Given the description of an element on the screen output the (x, y) to click on. 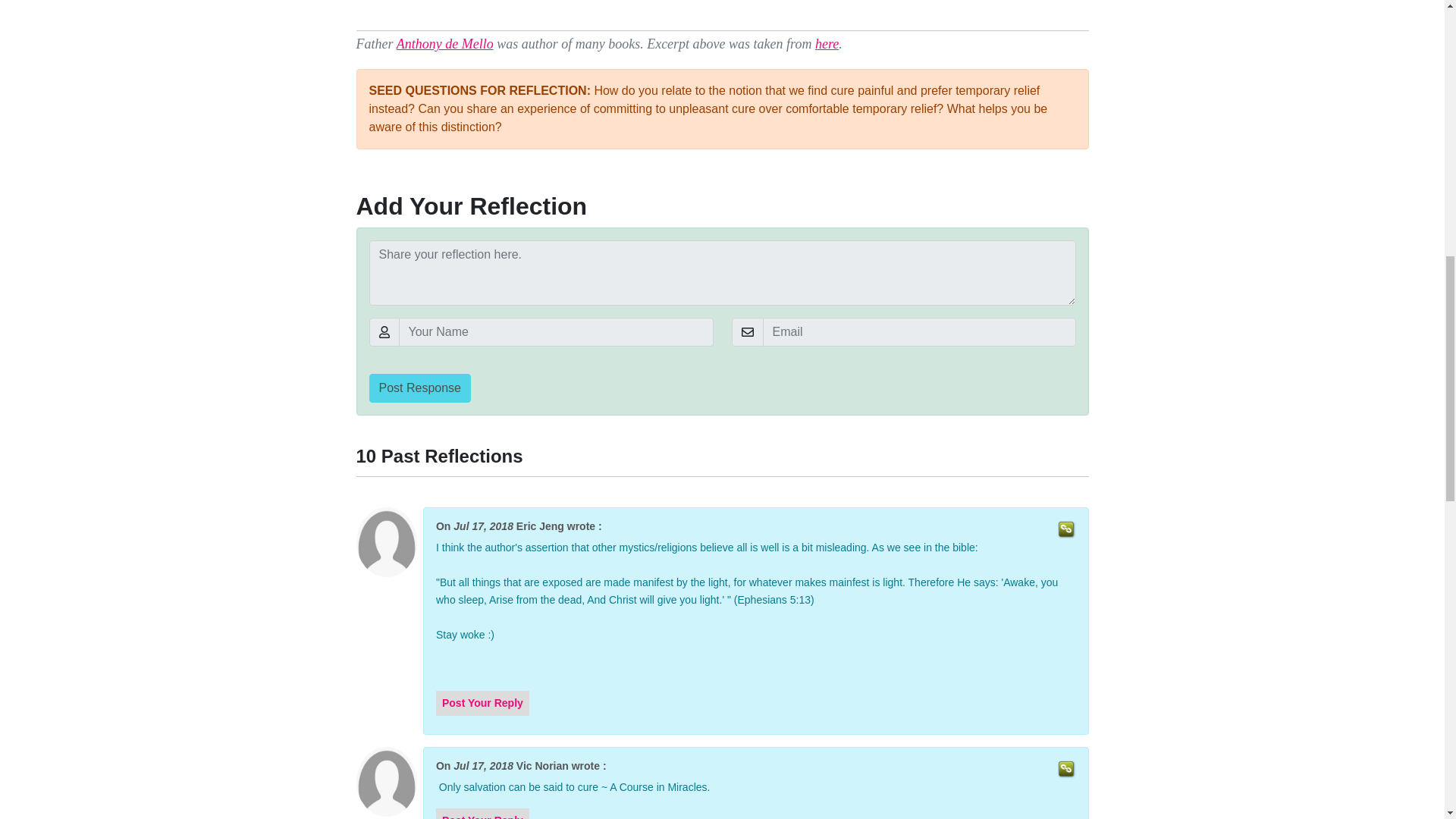
Anthony de Mello (444, 43)
here (826, 43)
Post Response (419, 387)
Post Your Reply (482, 703)
Post Your Reply (482, 817)
